Given the description of an element on the screen output the (x, y) to click on. 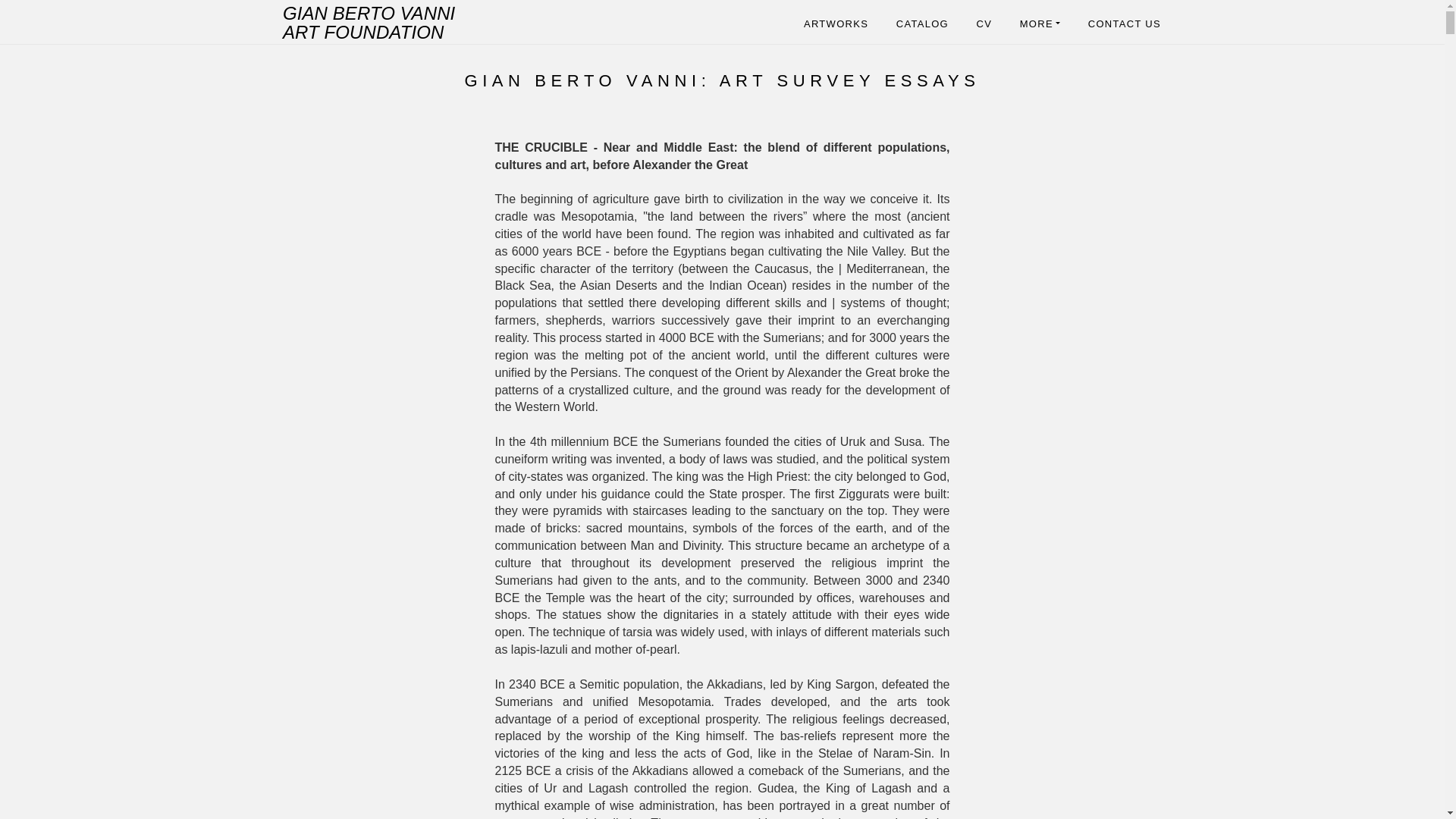
ARTWORKS (835, 26)
